Given the description of an element on the screen output the (x, y) to click on. 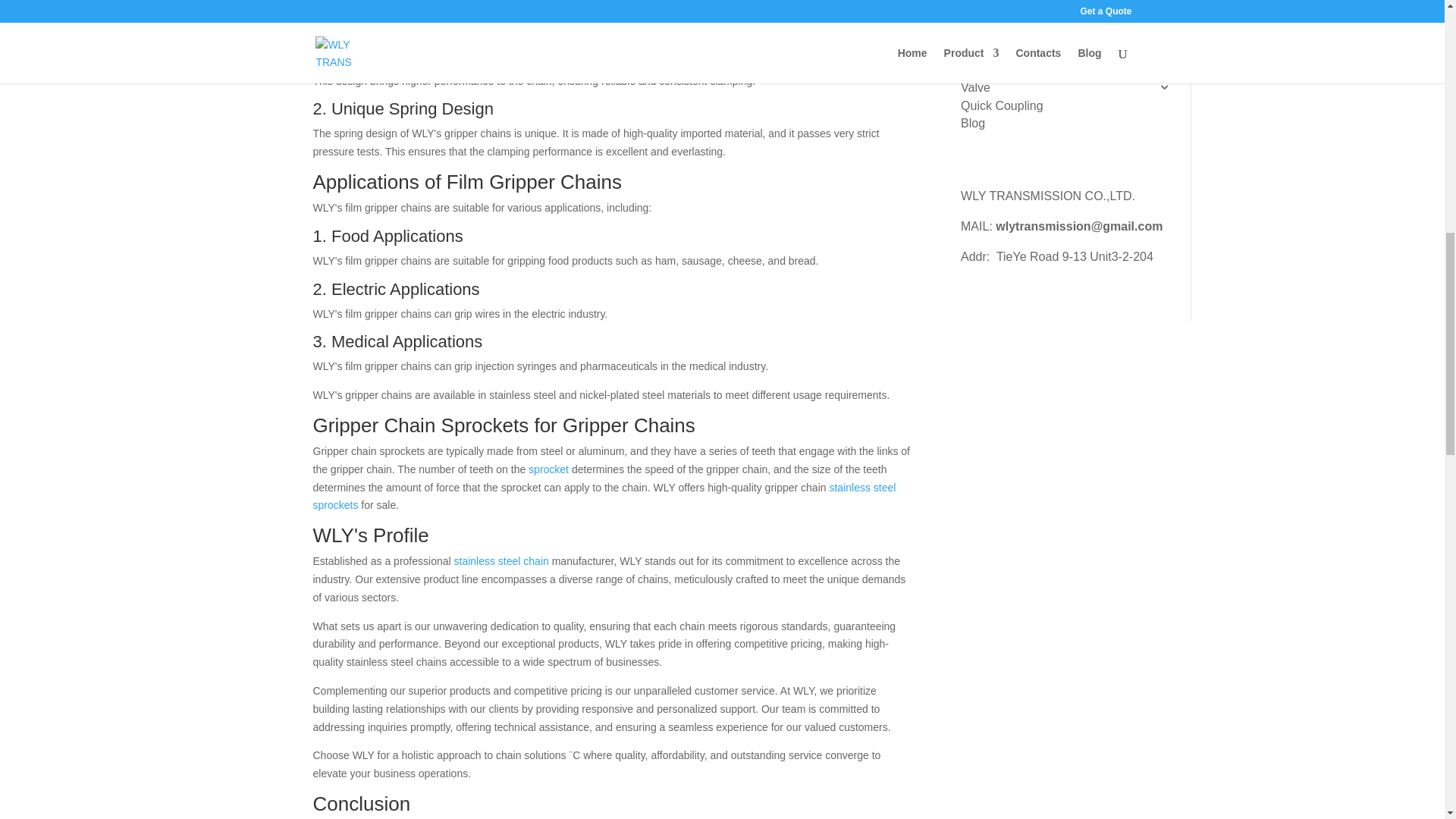
stainless steel chain (500, 561)
Posts tagged with Sprocket (548, 469)
Posts tagged with Stainless Steel Chain (500, 561)
Posts tagged with Stainless Steel Sprockets (604, 496)
sprocket (548, 469)
stainless steel sprockets (604, 496)
